Given the description of an element on the screen output the (x, y) to click on. 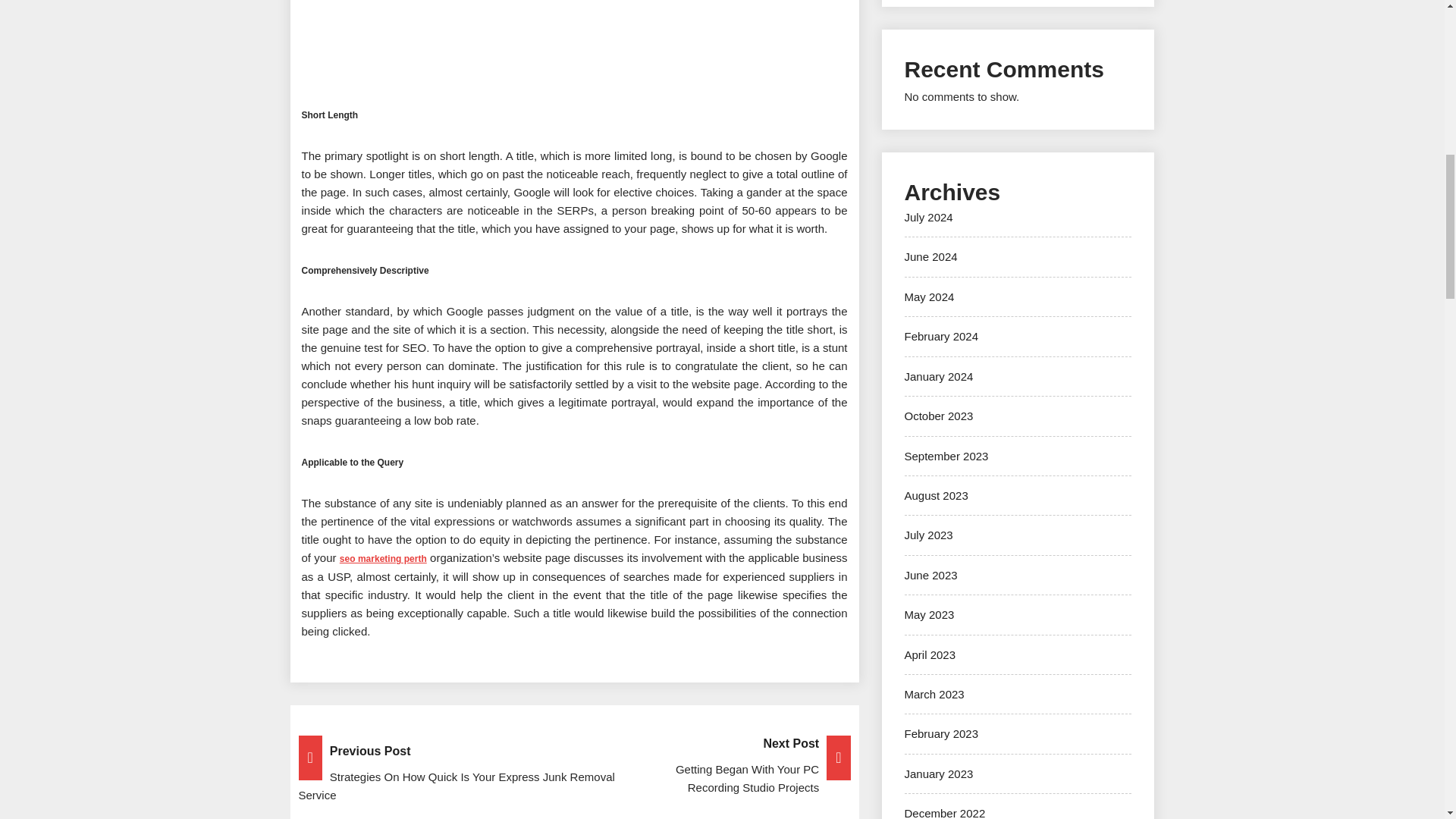
February 2024 (941, 336)
September 2023 (946, 454)
August 2023 (936, 495)
June 2024 (930, 256)
May 2024 (928, 296)
July 2023 (928, 534)
October 2023 (938, 415)
June 2023 (930, 574)
seo marketing perth (382, 557)
